Given the description of an element on the screen output the (x, y) to click on. 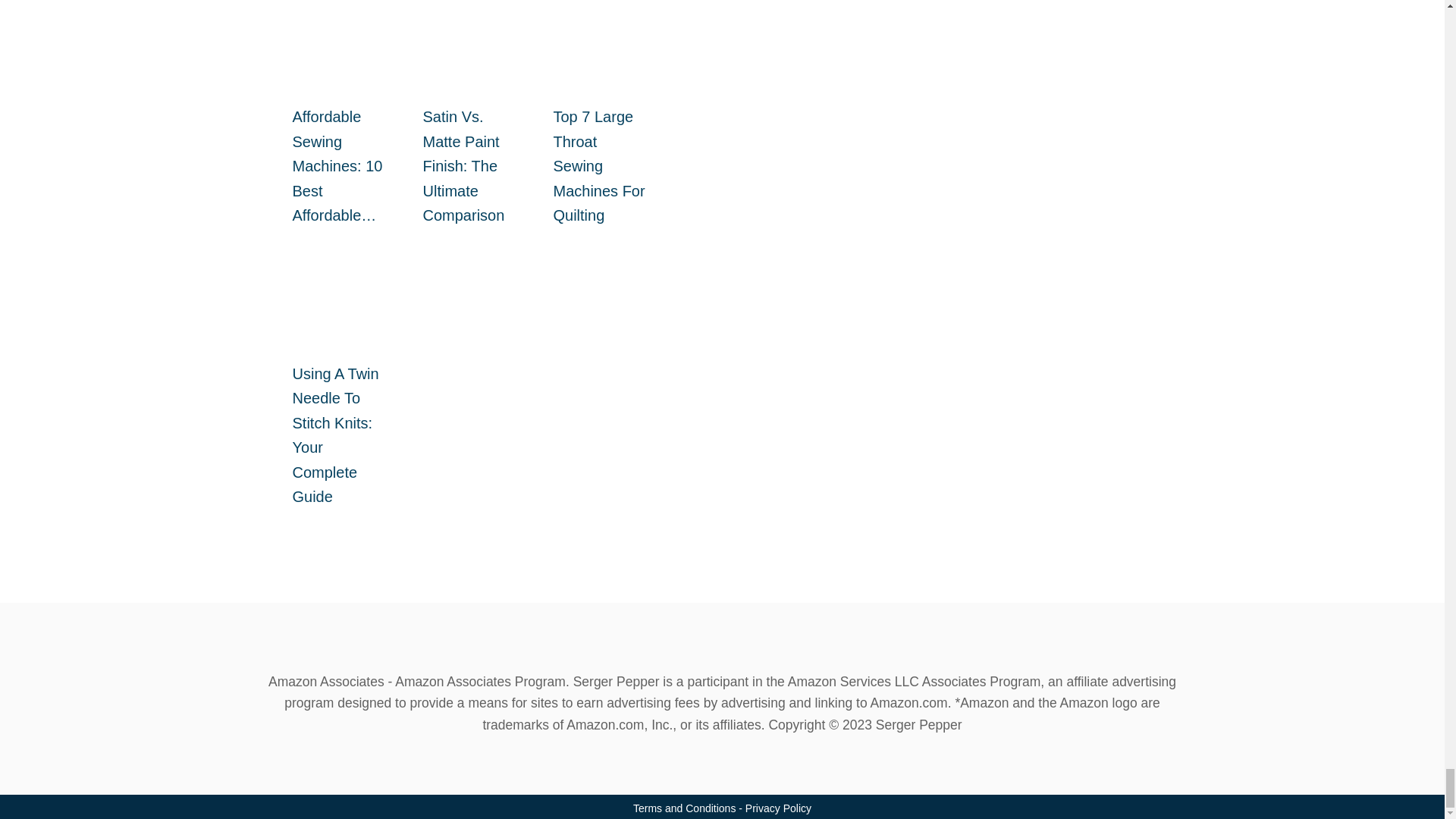
Using A Twin Needle To Stitch Knits: Your Complete Guide (340, 280)
Top 7 Large Throat Sewing Machines For Quilting (601, 27)
Satin Vs. Matte Paint Finish: The Ultimate Comparison (470, 27)
